Given the description of an element on the screen output the (x, y) to click on. 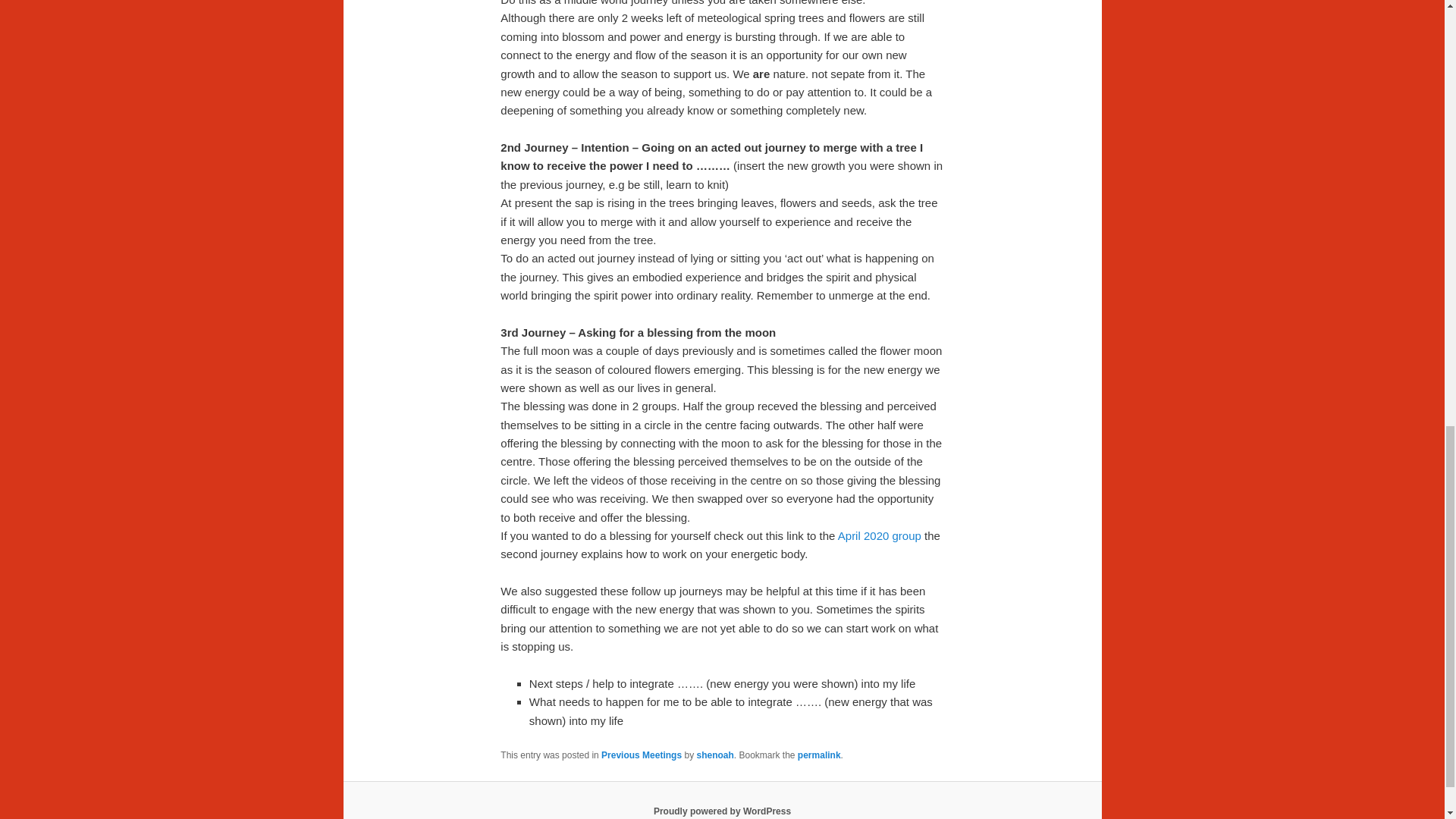
Semantic Personal Publishing Platform (721, 810)
permalink (819, 755)
April 2020 group (879, 535)
Proudly powered by WordPress (721, 810)
Previous Meetings (641, 755)
shenoah (714, 755)
